Given the description of an element on the screen output the (x, y) to click on. 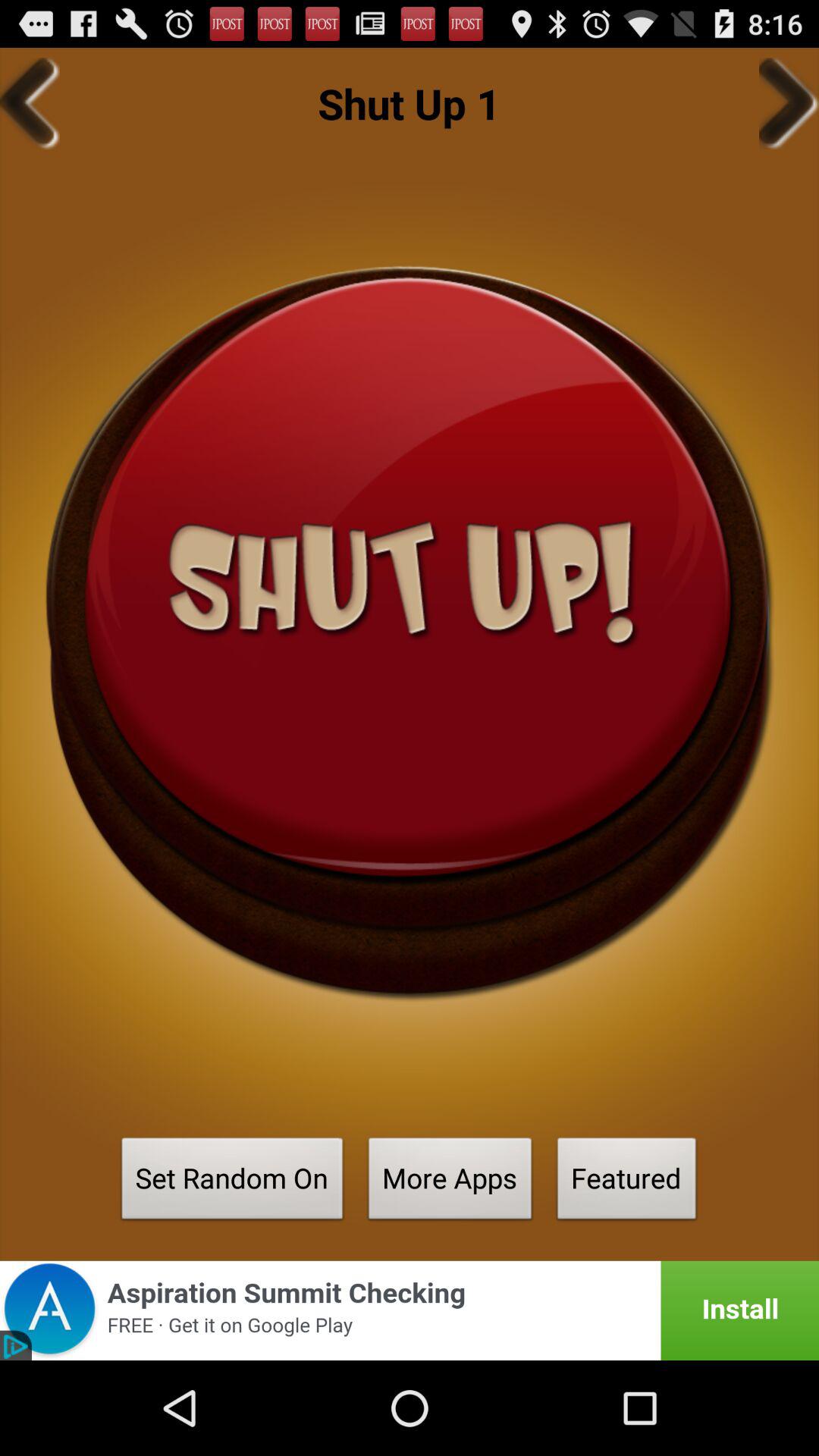
tap item at the bottom right corner (626, 1182)
